Given the description of an element on the screen output the (x, y) to click on. 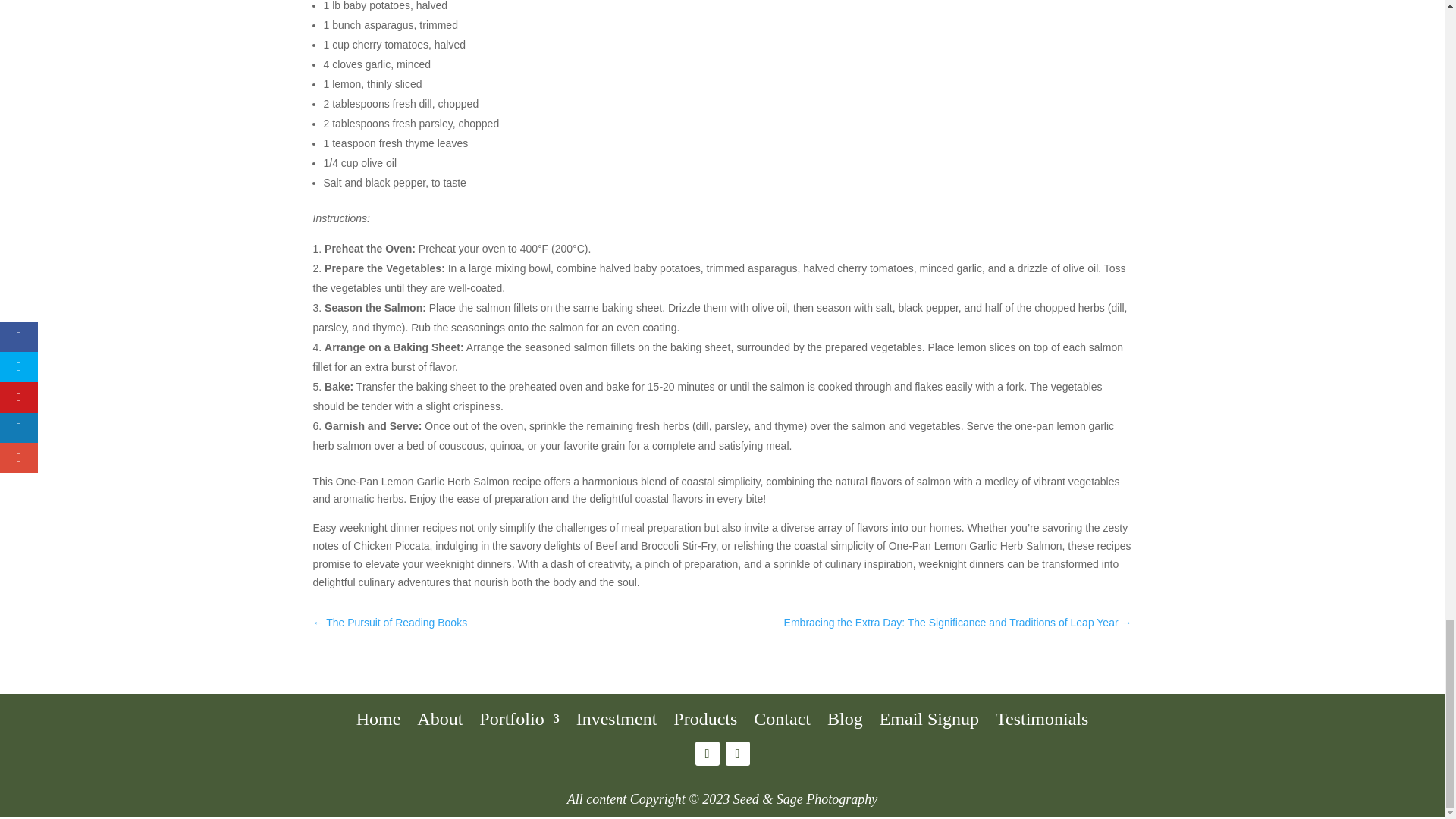
Follow on Facebook (706, 753)
Home (378, 715)
Investment (617, 715)
Portfolio (519, 715)
About (439, 715)
Follow on Instagram (737, 753)
